Given the description of an element on the screen output the (x, y) to click on. 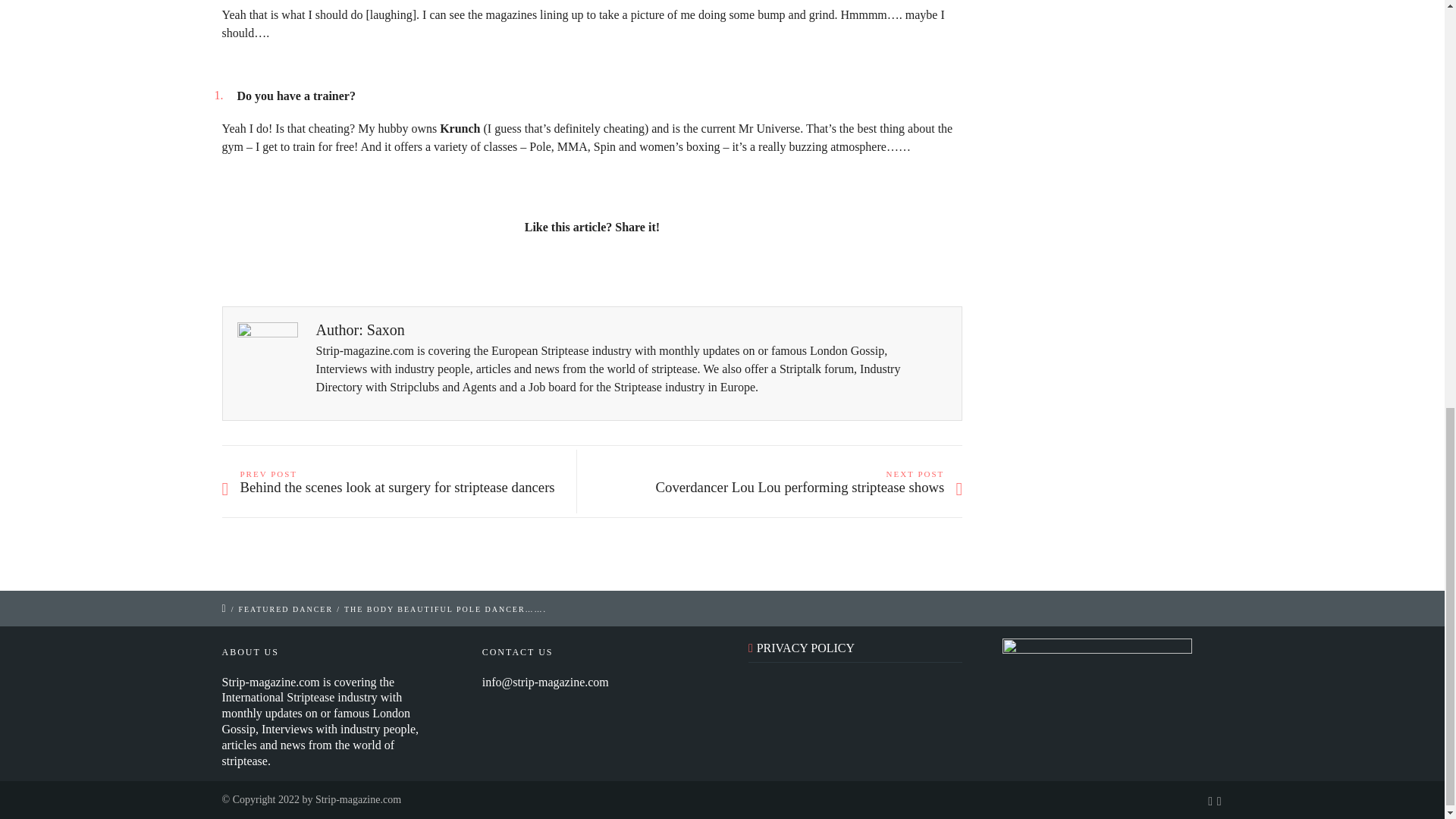
Linkedin (592, 267)
Strip-magazine.com (358, 799)
Behind the scenes look at surgery for striptease dancers (402, 487)
FEATURED DANCER (285, 609)
Twitter (525, 267)
Coverdancer Lou Lou performing striptease shows (780, 487)
PRIVACY POLICY (805, 647)
Facebook (558, 267)
Pinterest (658, 267)
